Given the description of an element on the screen output the (x, y) to click on. 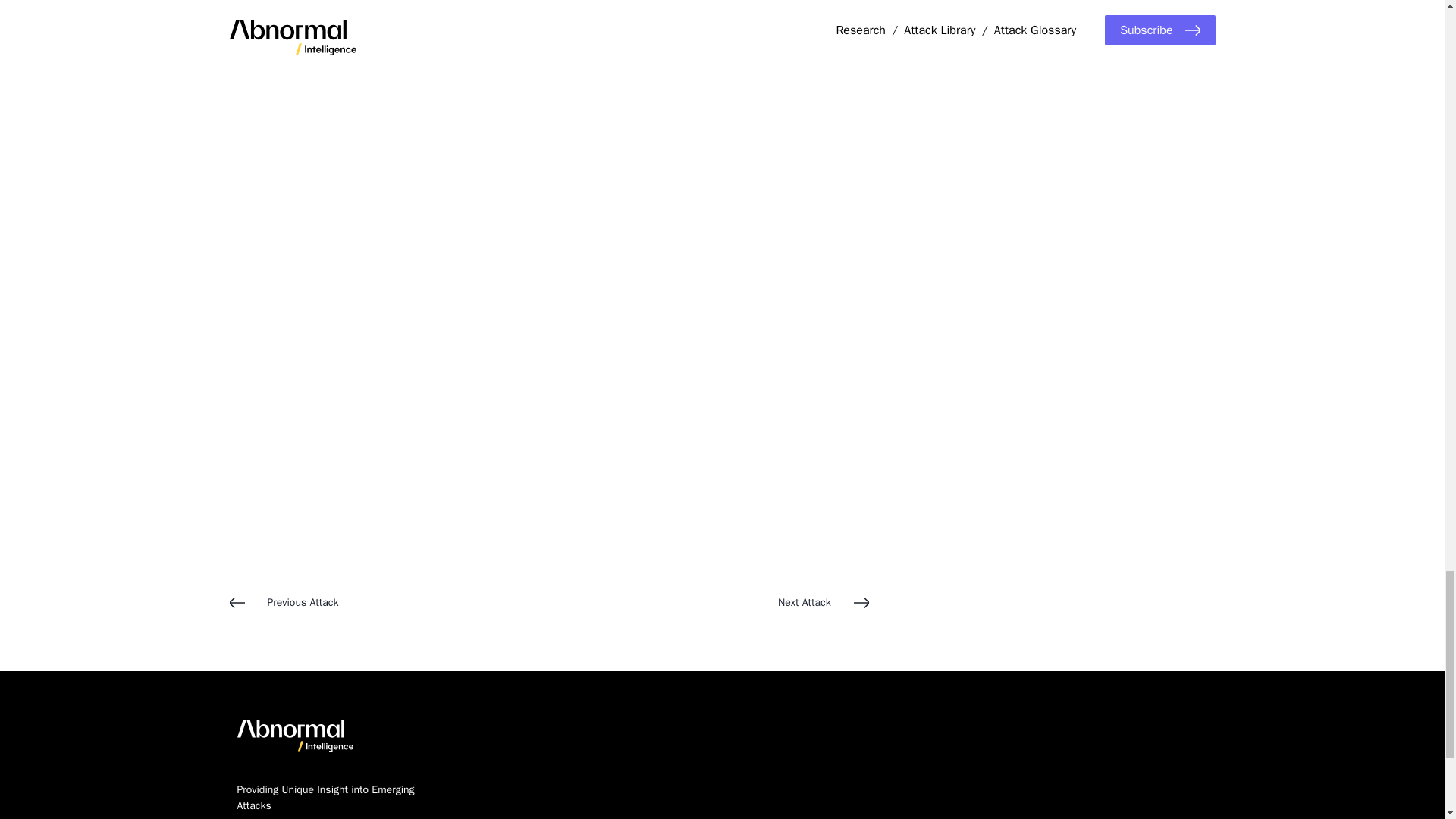
Previous Attack (388, 602)
Next Attack (708, 602)
